Given the description of an element on the screen output the (x, y) to click on. 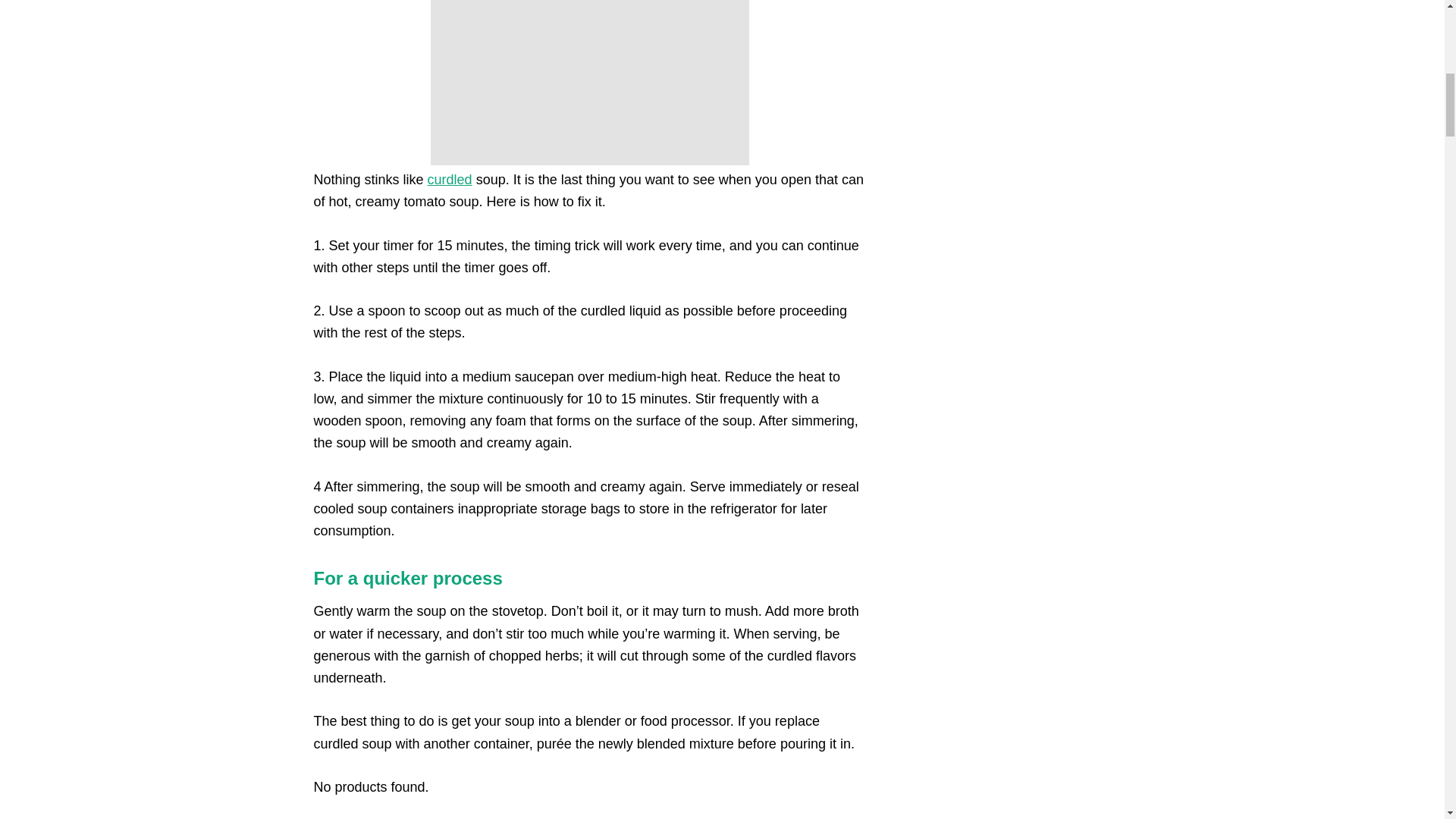
curdled (449, 179)
